Given the description of an element on the screen output the (x, y) to click on. 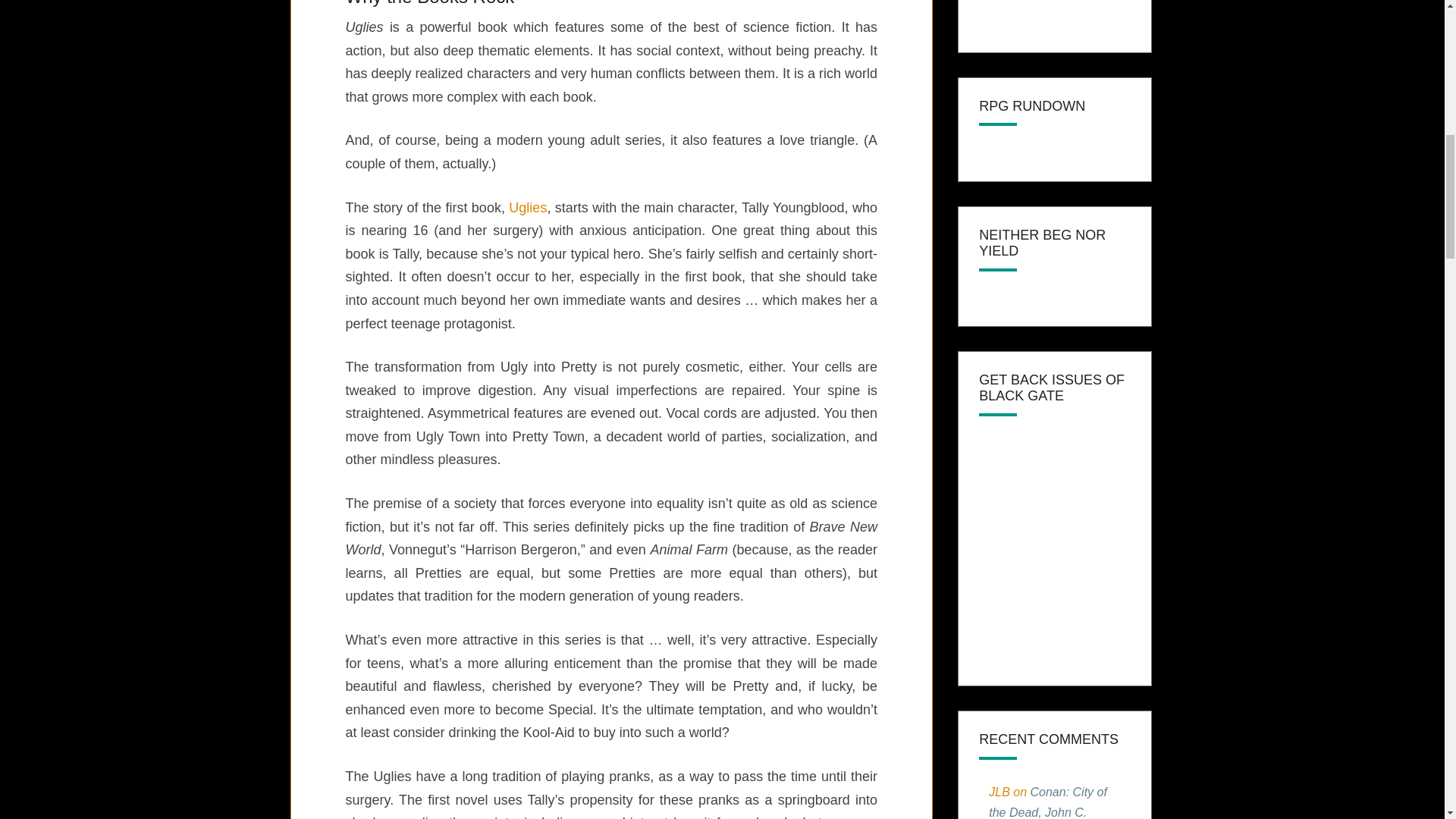
Uglies (527, 207)
